Given the description of an element on the screen output the (x, y) to click on. 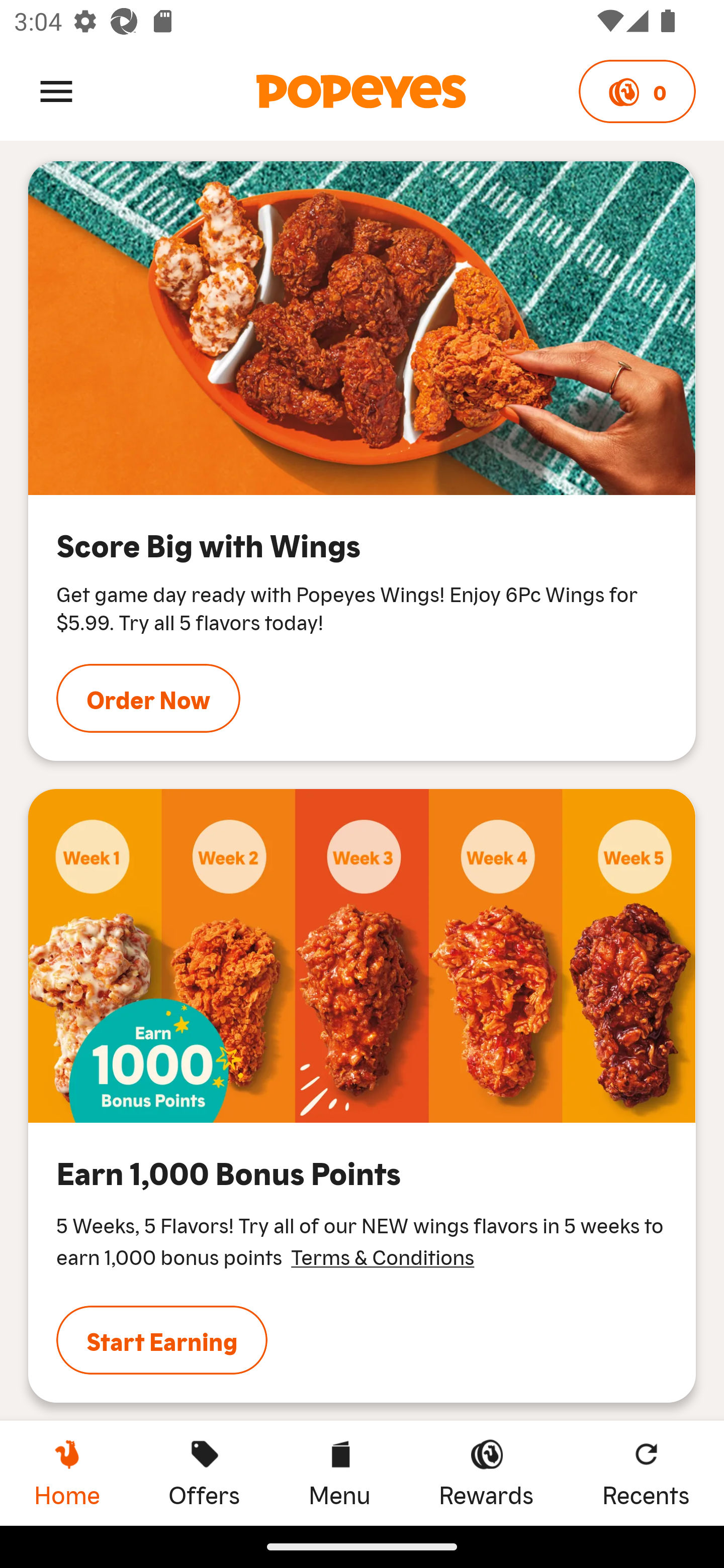
Menu  (56, 90)
0 Points 0 (636, 91)
Score Big with Wings (361, 328)
Order Now (148, 697)
Earn 1,000 Bonus Points (361, 955)
Start Earning (161, 1340)
Home, current page Home Home, current page (66, 1472)
Offers Offers Offers (203, 1472)
Menu Menu Menu (339, 1472)
Rewards Rewards Rewards (486, 1472)
Recents Recents Recents (646, 1472)
